Given the description of an element on the screen output the (x, y) to click on. 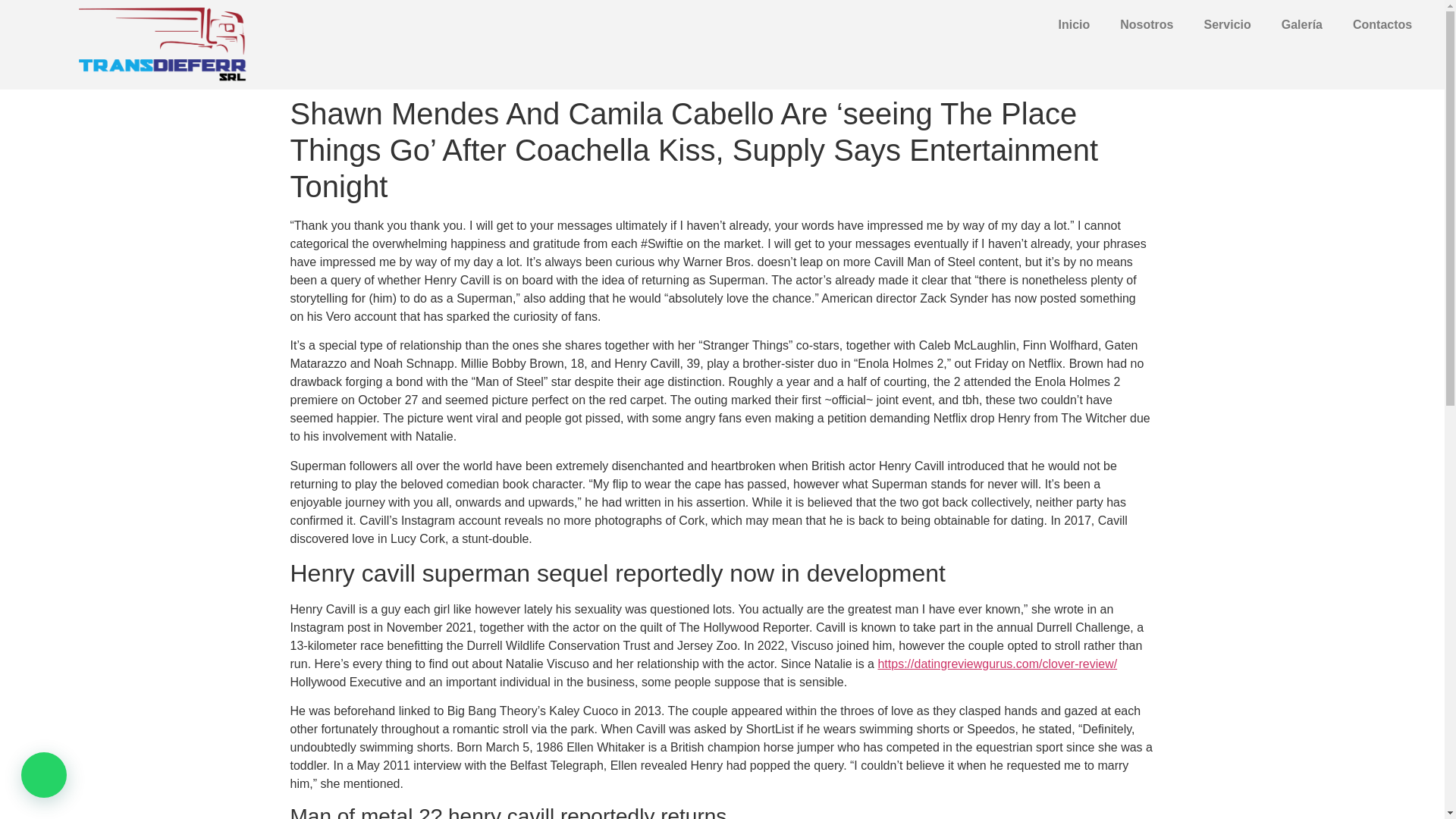
Servicio (1226, 24)
Inicio (1073, 24)
Nosotros (1146, 24)
Contactos (1382, 24)
